Given the description of an element on the screen output the (x, y) to click on. 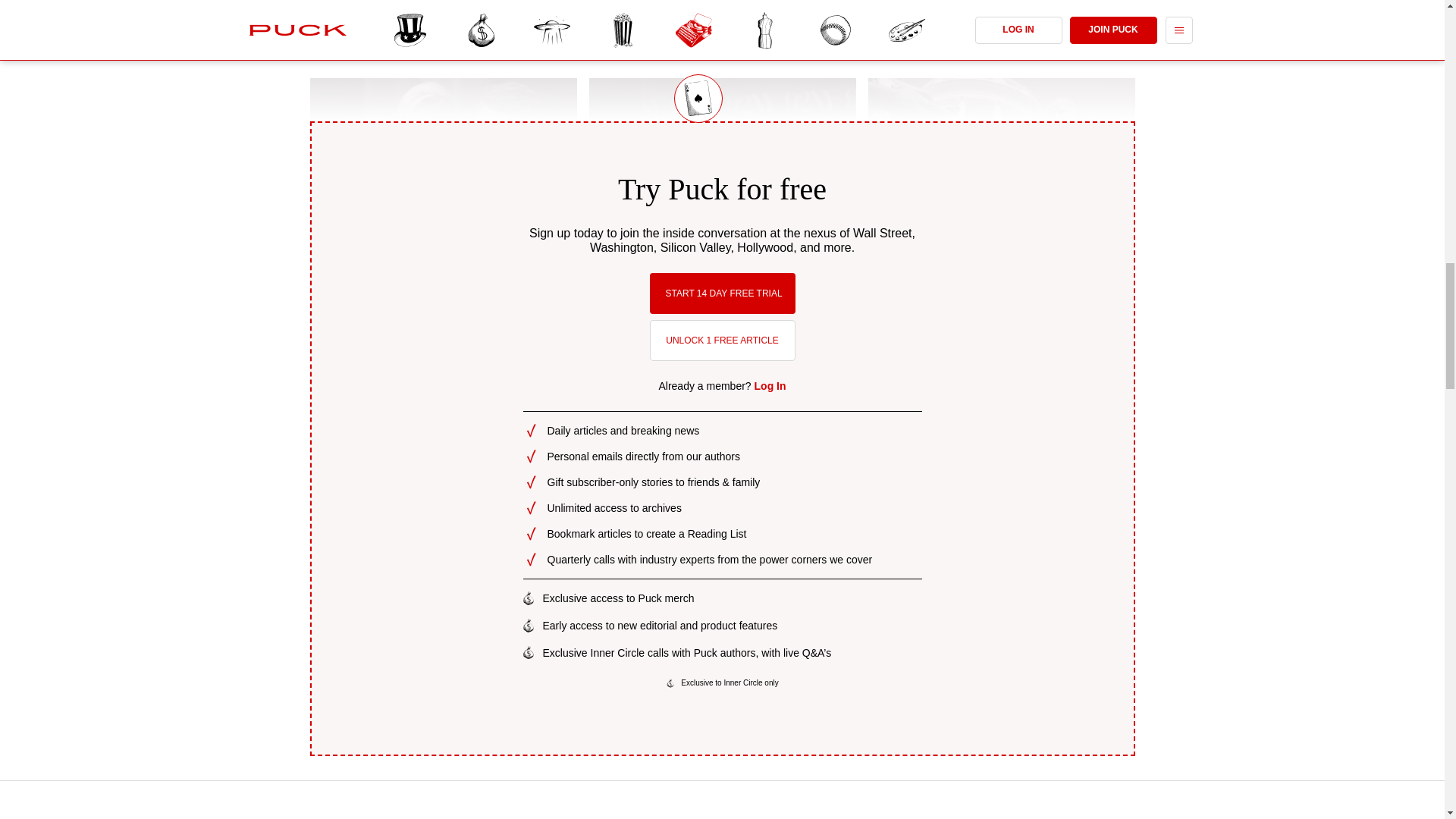
3rd party ad content (722, 807)
